Given the description of an element on the screen output the (x, y) to click on. 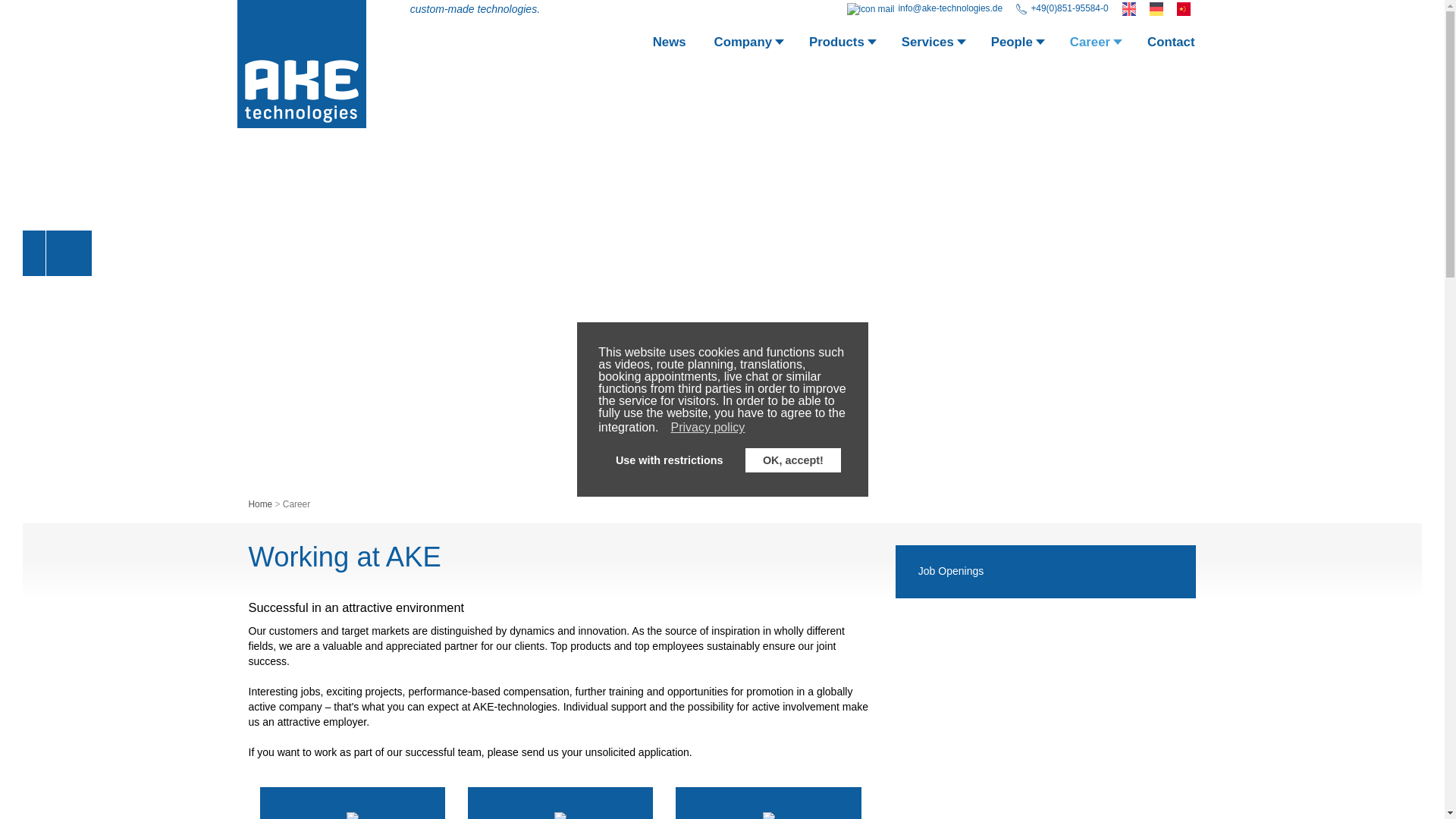
Products (841, 46)
Privacy policy (709, 427)
Use with restrictions (668, 459)
OK, accept! (792, 459)
Company (747, 46)
News (668, 46)
